Given the description of an element on the screen output the (x, y) to click on. 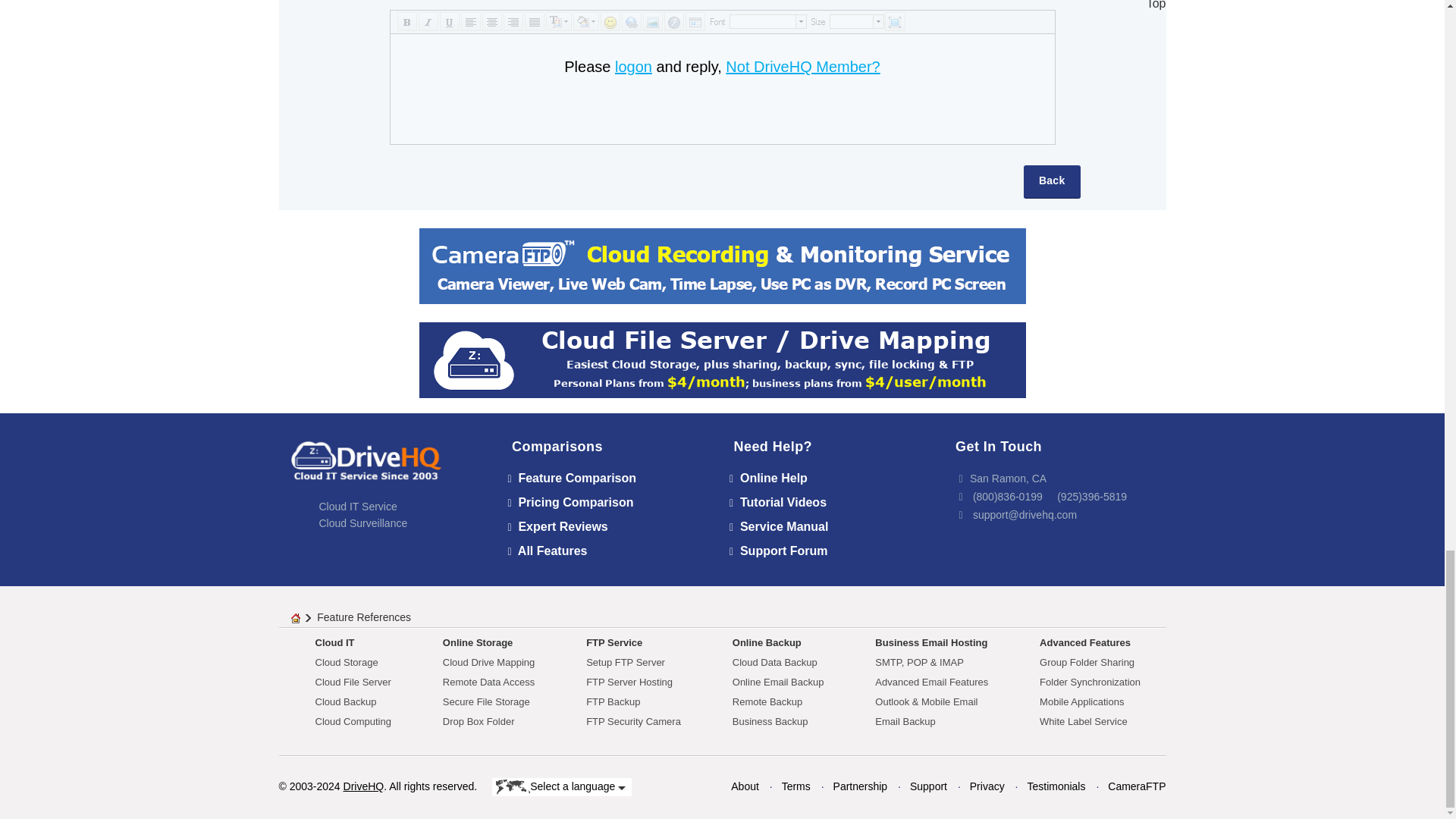
Back (1051, 182)
